Given the description of an element on the screen output the (x, y) to click on. 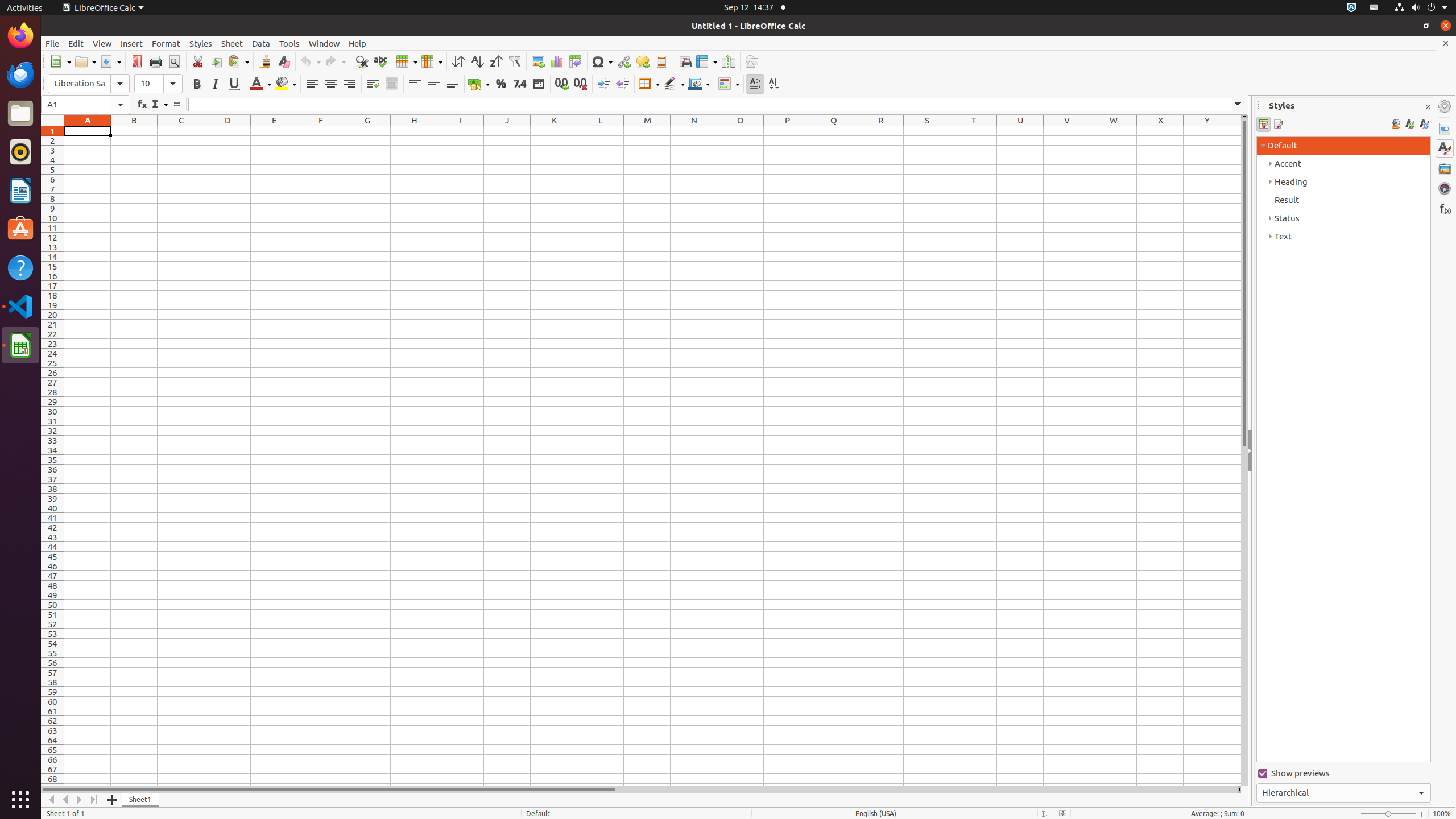
LibreOffice Writer Element type: push-button (20, 190)
Find & Replace Element type: toggle-button (361, 61)
Styles Element type: menu (200, 43)
Align Right Element type: push-button (349, 83)
Data Element type: menu (260, 43)
